Given the description of an element on the screen output the (x, y) to click on. 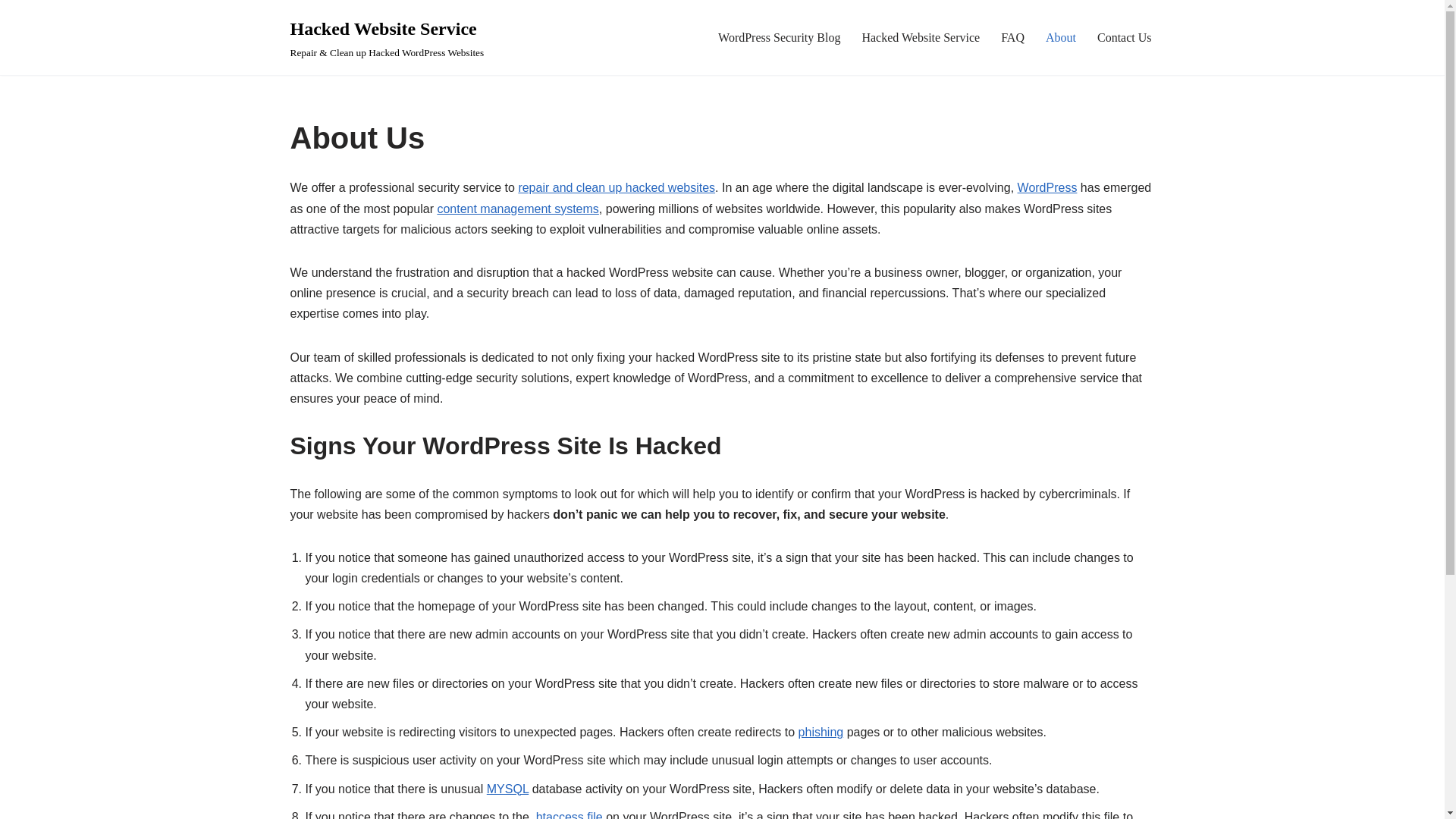
WordPress (1047, 187)
Skip to content (11, 31)
Contact Us (1124, 37)
FAQ (1013, 37)
content management systems (517, 208)
Hacked Website Service (920, 37)
MYSQL (507, 788)
WordPress Security Blog (778, 37)
repair and clean up hacked websites (616, 187)
About (1060, 37)
phishing (820, 731)
.htaccess file (567, 814)
